Given the description of an element on the screen output the (x, y) to click on. 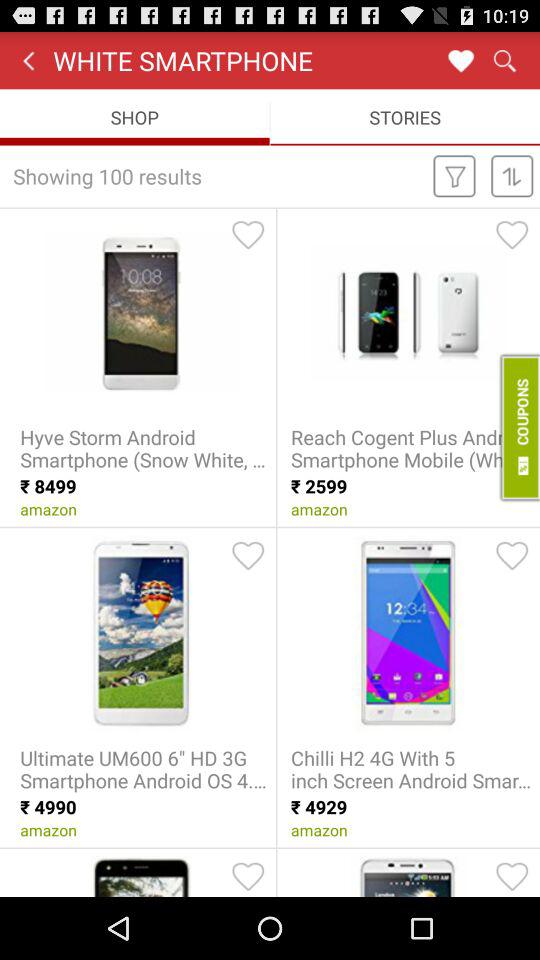
go back (28, 60)
